Given the description of an element on the screen output the (x, y) to click on. 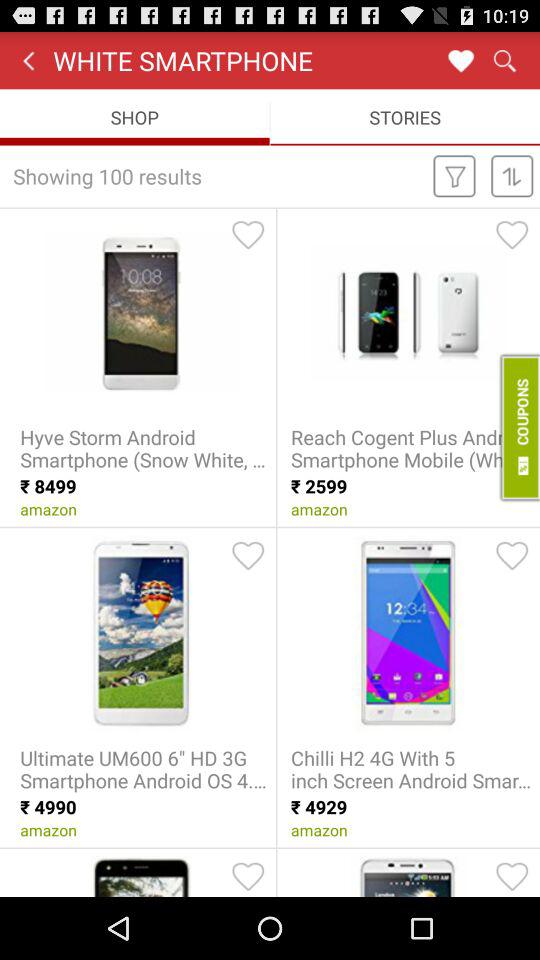
go back (28, 60)
